Given the description of an element on the screen output the (x, y) to click on. 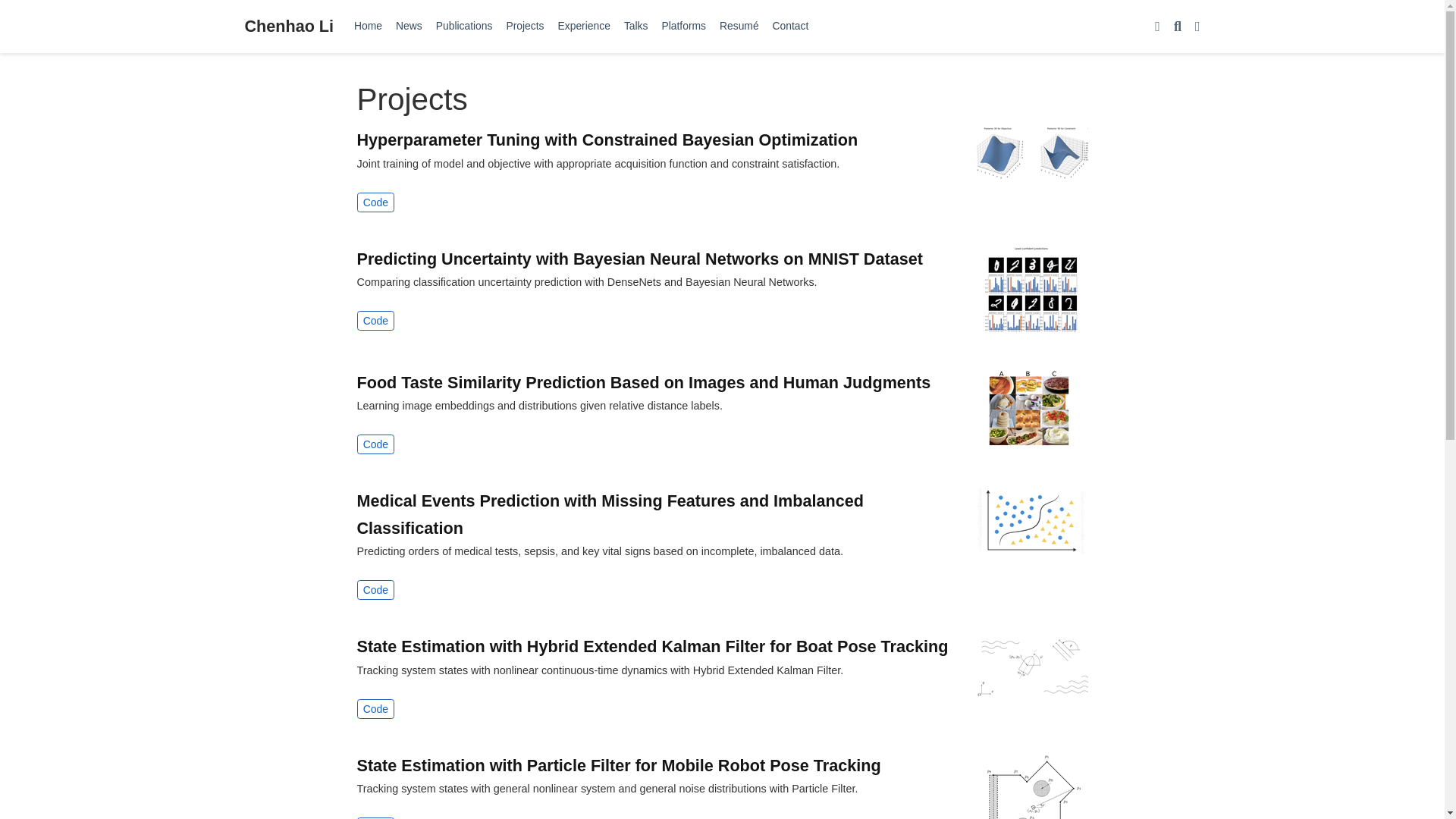
News (408, 26)
Code (375, 589)
Code (375, 202)
Talks (636, 26)
Publications (464, 26)
Platforms (683, 26)
